Given the description of an element on the screen output the (x, y) to click on. 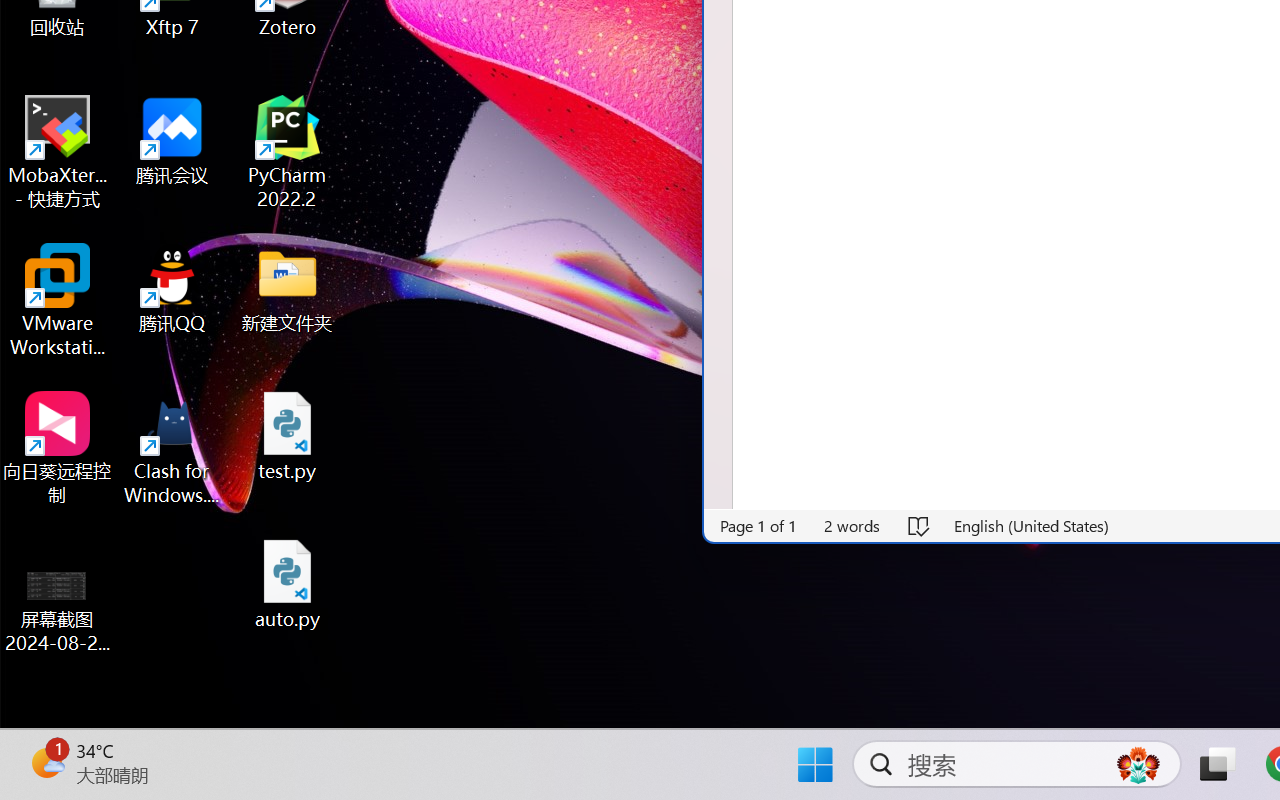
Page Number Page 1 of 1 (759, 526)
Word Count 2 words (853, 526)
